Given the description of an element on the screen output the (x, y) to click on. 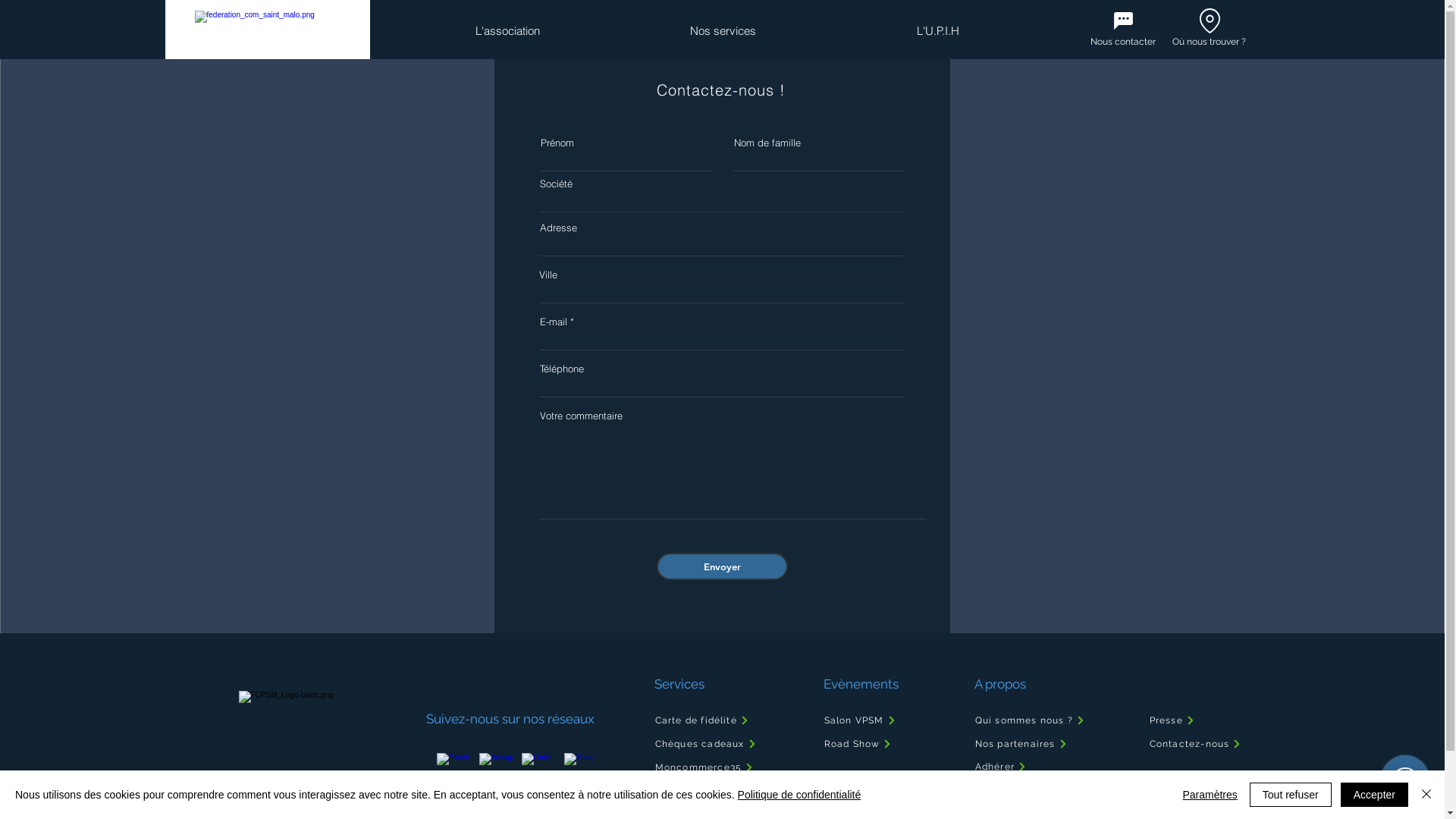
Nous contacter Element type: text (1122, 41)
Nos partenaires Element type: text (1045, 743)
Salon VPSM Element type: text (871, 720)
Accepter Element type: text (1374, 794)
Moncommerce35 Element type: text (729, 767)
Envoyer Element type: text (721, 566)
Nos services Element type: text (722, 30)
Qui sommes nous ? Element type: text (1049, 720)
Contactez-nous Element type: text (1199, 743)
Presse Element type: text (1199, 720)
Tout refuser Element type: text (1290, 794)
L'association Element type: text (507, 30)
L'U.P.I.H Element type: text (936, 30)
Road Show Element type: text (871, 743)
